Given the description of an element on the screen output the (x, y) to click on. 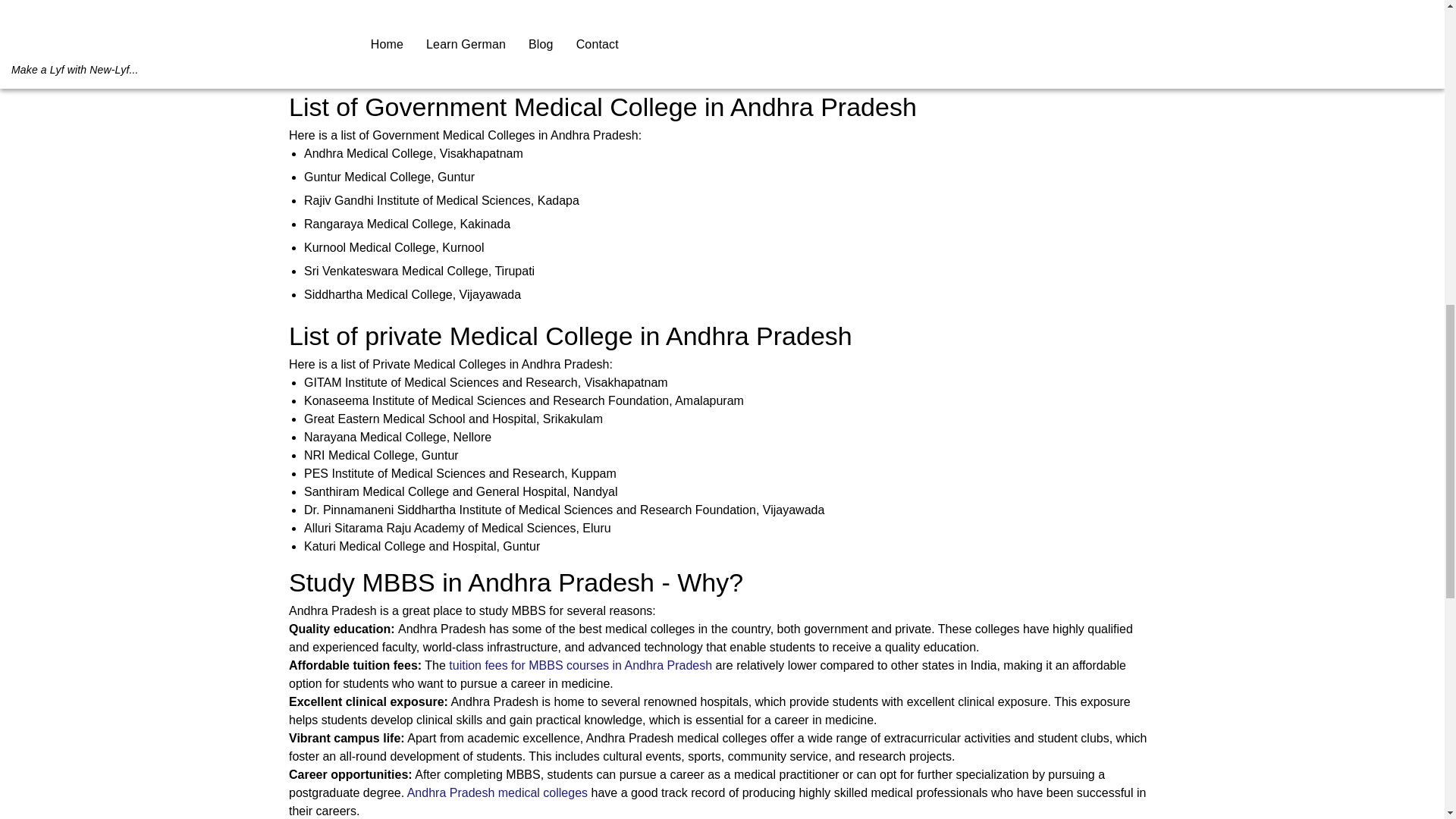
Andhra Pradesh medical colleges (497, 792)
tuition fees for MBBS courses in Andhra Pradesh (579, 665)
Andhra Pradesh medical colleges (423, 51)
